Given the description of an element on the screen output the (x, y) to click on. 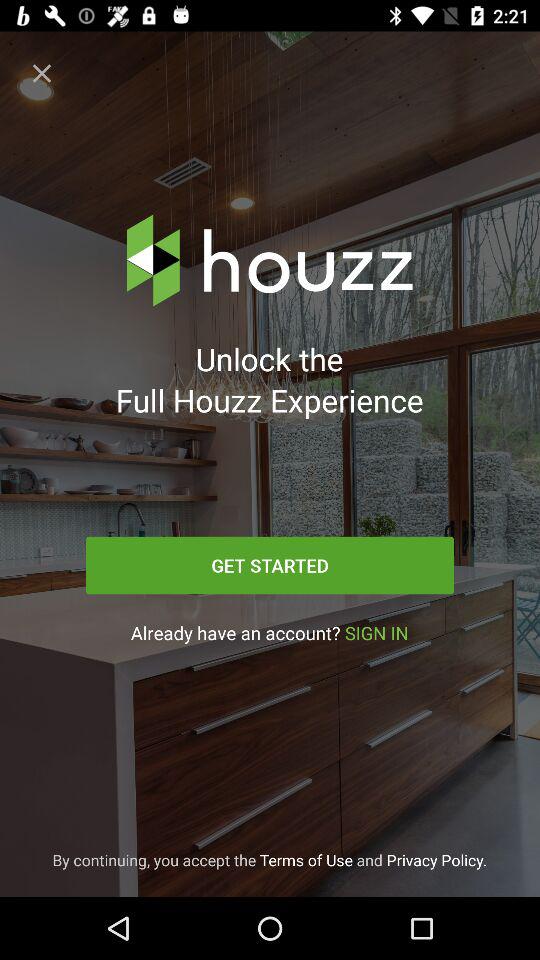
press get started (269, 565)
